Given the description of an element on the screen output the (x, y) to click on. 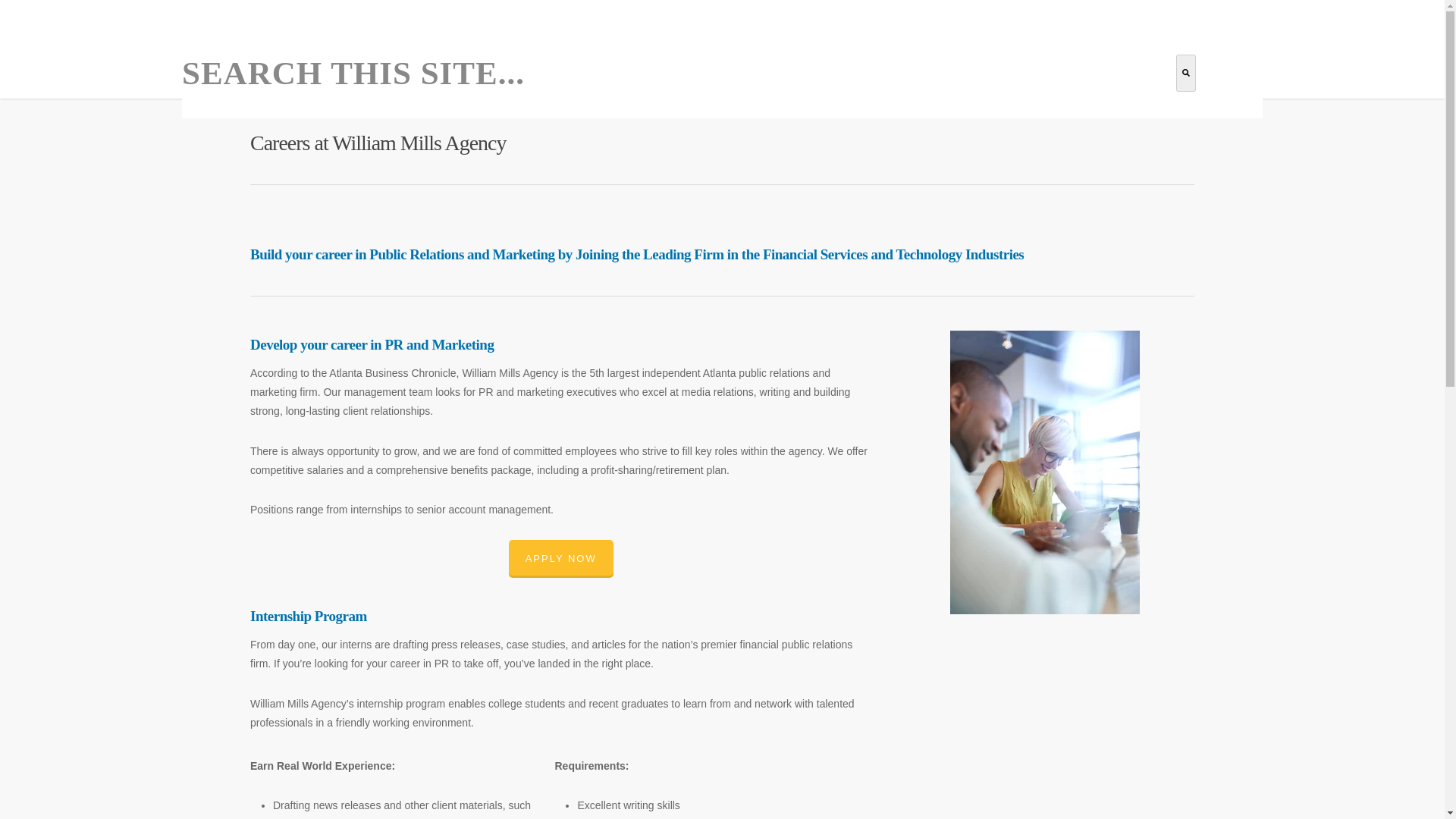
Contact (1154, 59)
Resources (1037, 59)
Services (792, 59)
Who We Serve (881, 59)
Blog (1098, 59)
About (965, 59)
APPLY NOW (560, 558)
